Given the description of an element on the screen output the (x, y) to click on. 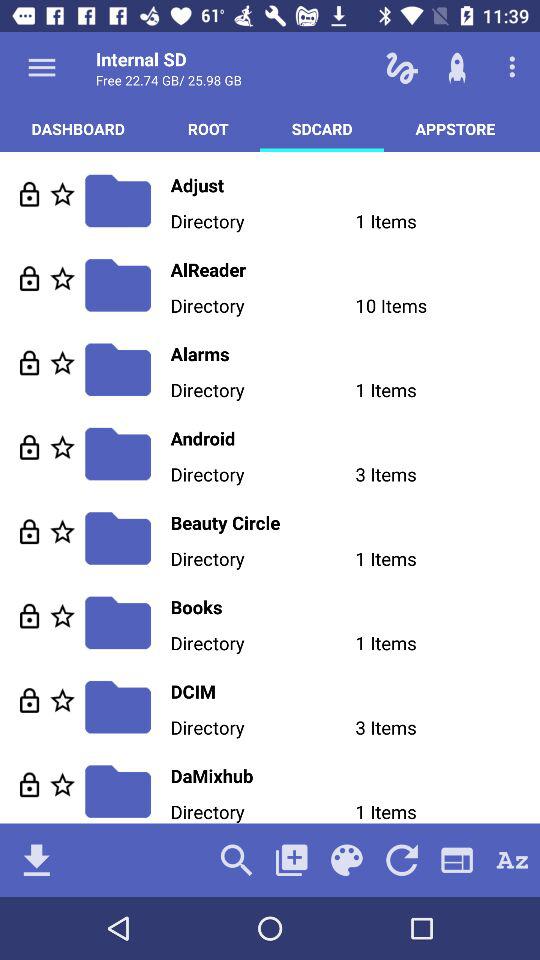
turn off the item below the directory icon (236, 859)
